Given the description of an element on the screen output the (x, y) to click on. 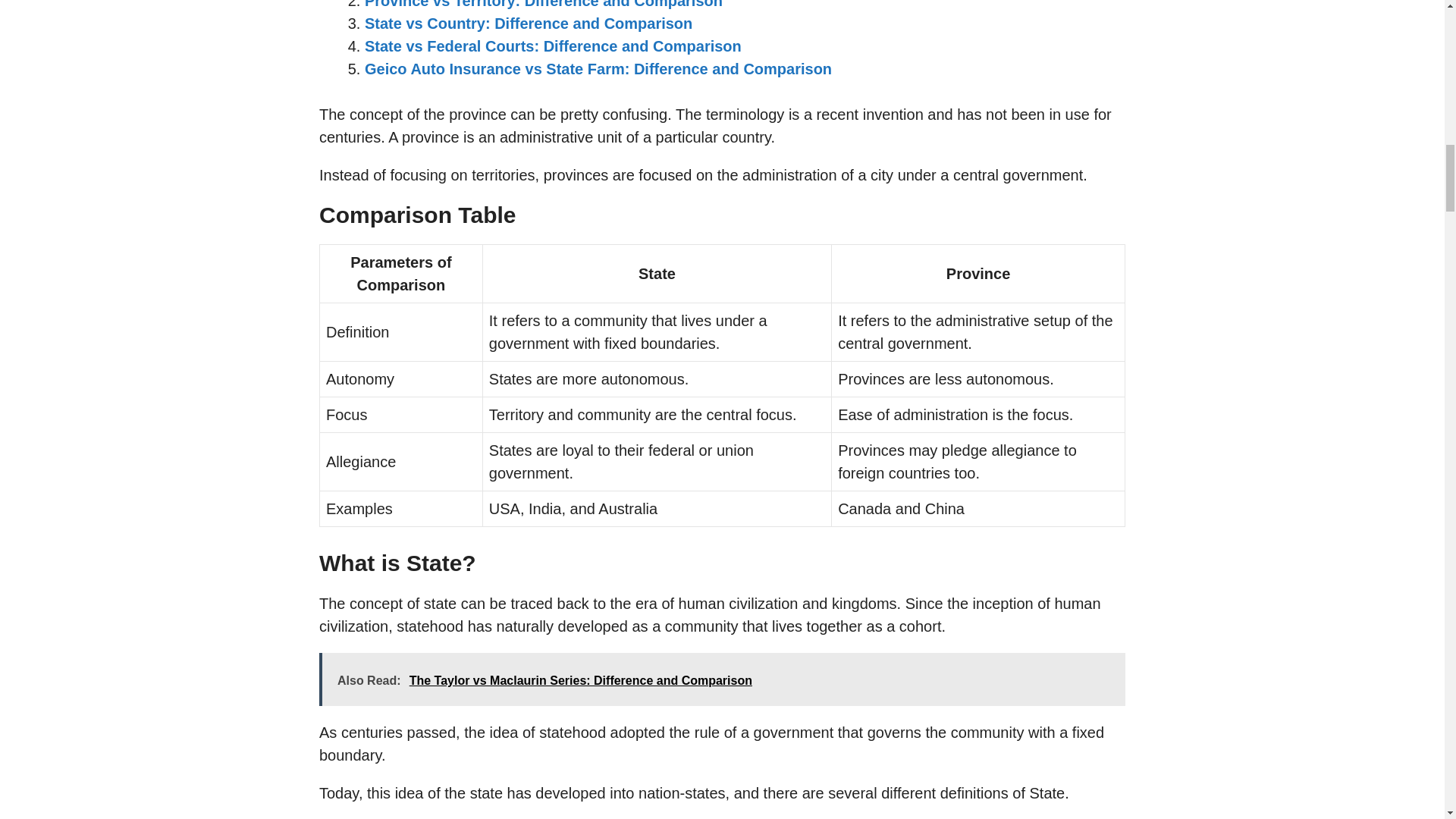
Province vs Territory: Difference and Comparison (543, 4)
State vs Country: Difference and Comparison (529, 23)
State vs Federal Courts: Difference and Comparison (553, 45)
